Given the description of an element on the screen output the (x, y) to click on. 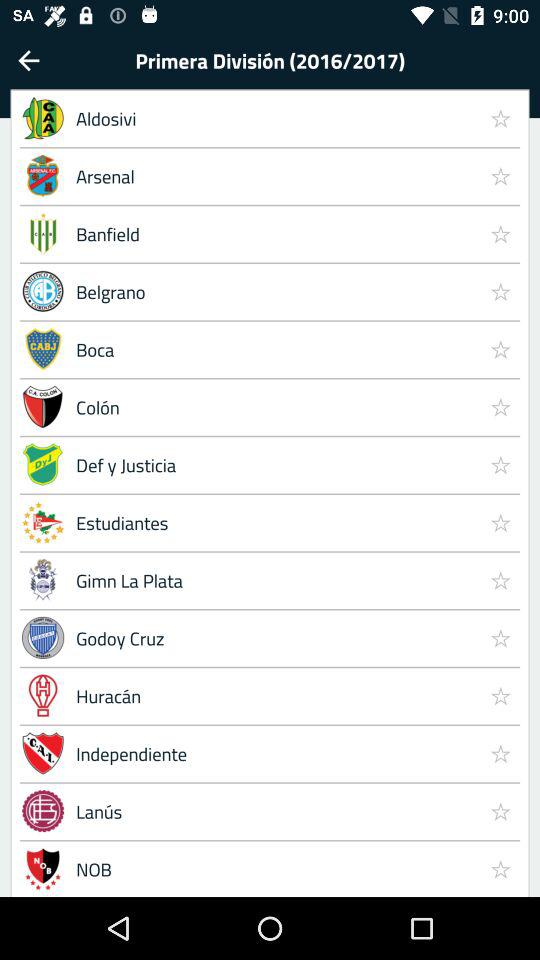
press item below gimn la plata item (500, 637)
